Given the description of an element on the screen output the (x, y) to click on. 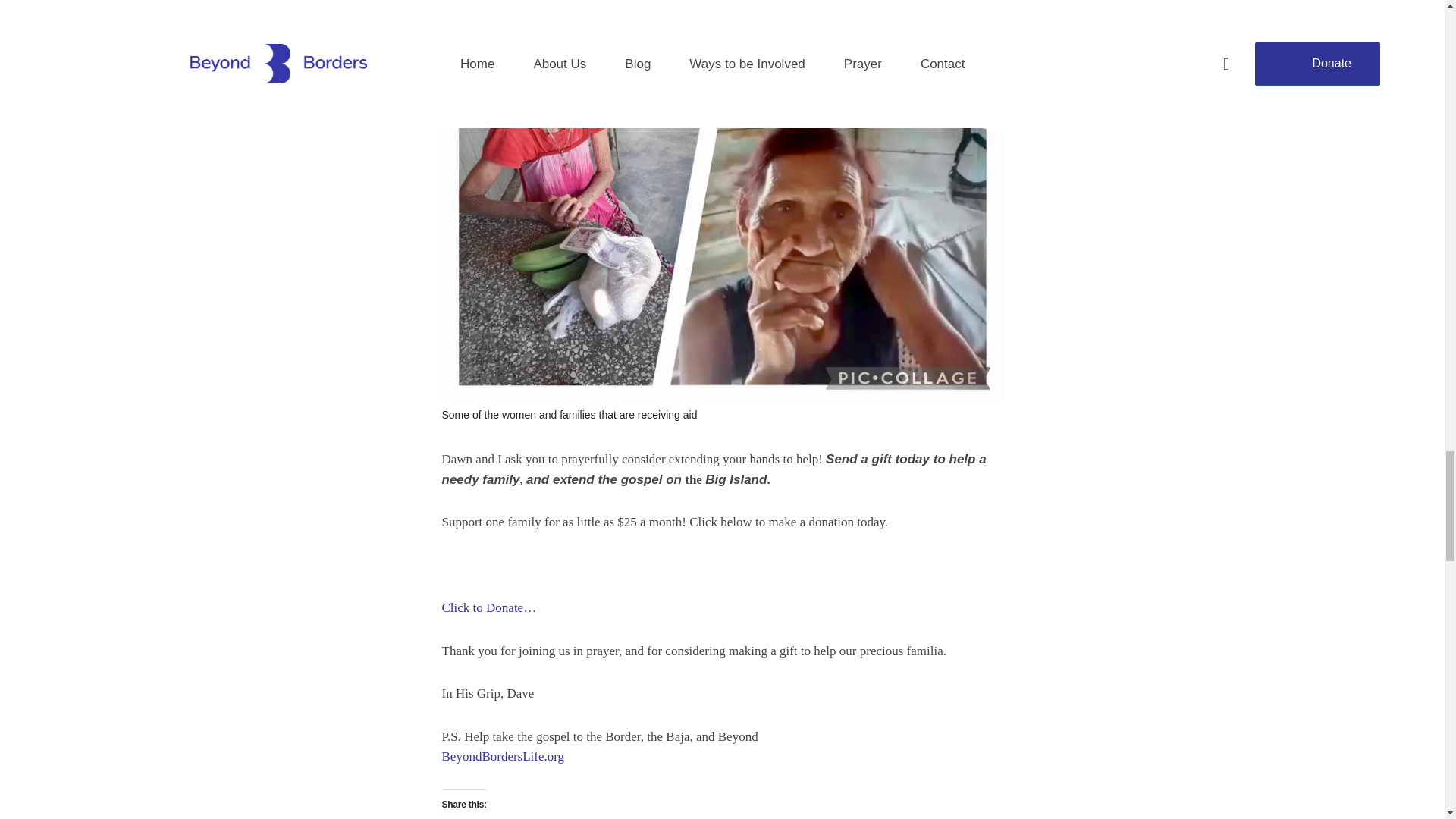
BeyondBordersLife.org (502, 756)
